Given the description of an element on the screen output the (x, y) to click on. 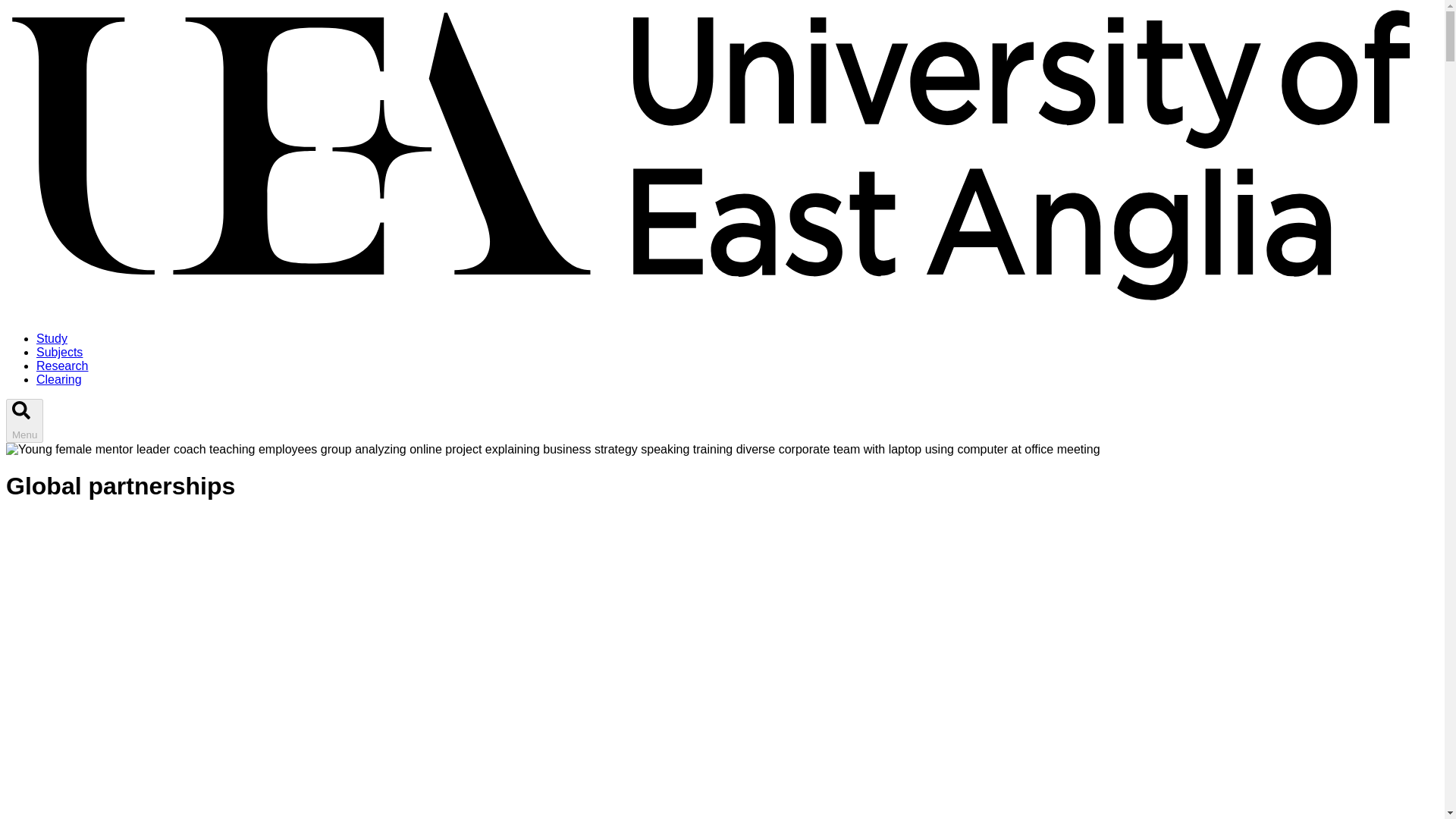
Clearing (58, 379)
Study (51, 338)
Subjects (59, 351)
Research (61, 365)
